Given the description of an element on the screen output the (x, y) to click on. 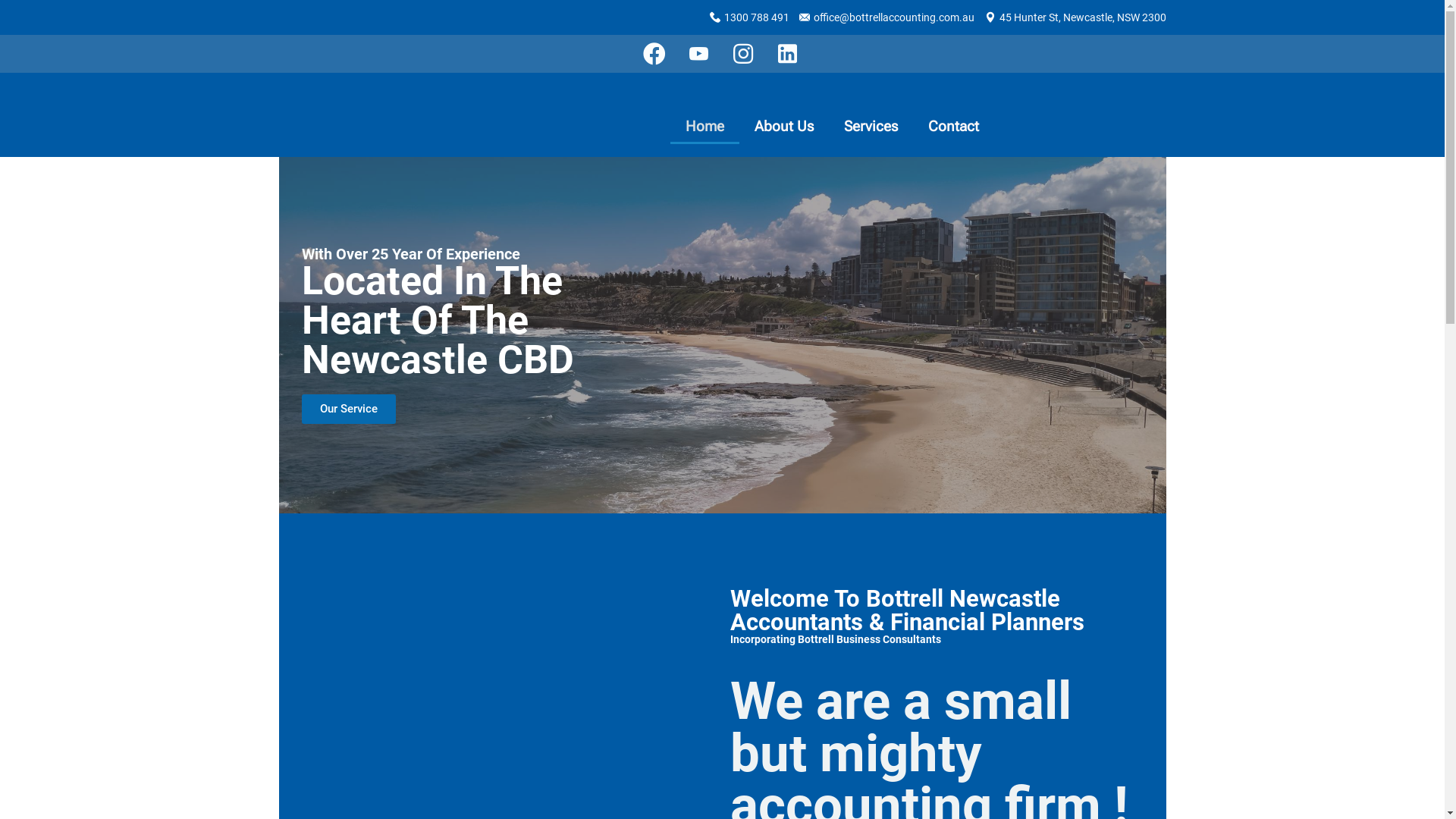
Home Element type: text (704, 126)
Services Element type: text (870, 126)
About Us Element type: text (783, 126)
Our Service Element type: text (348, 408)
Contact Element type: text (953, 126)
